Given the description of an element on the screen output the (x, y) to click on. 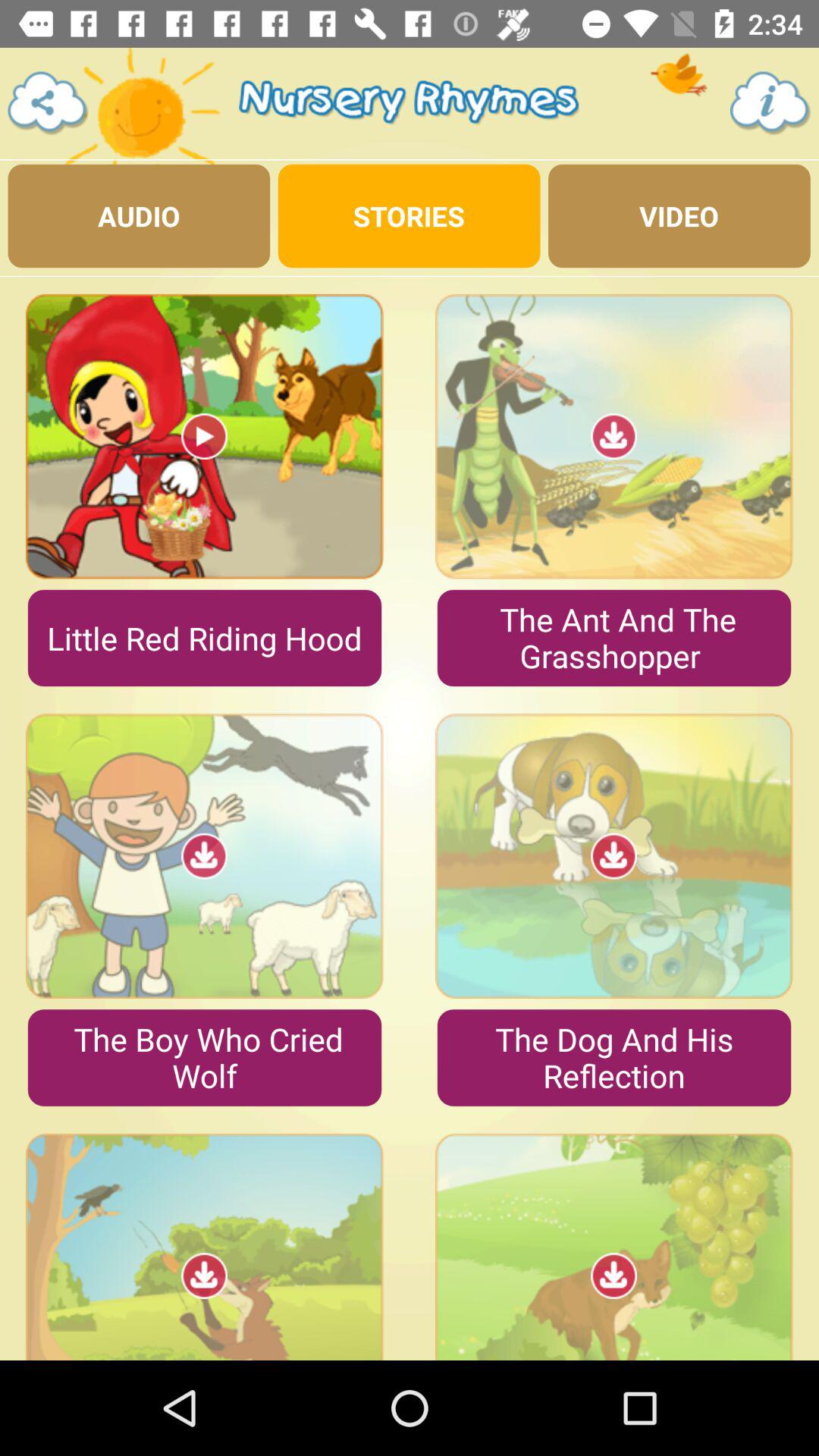
menu page (47, 103)
